Given the description of an element on the screen output the (x, y) to click on. 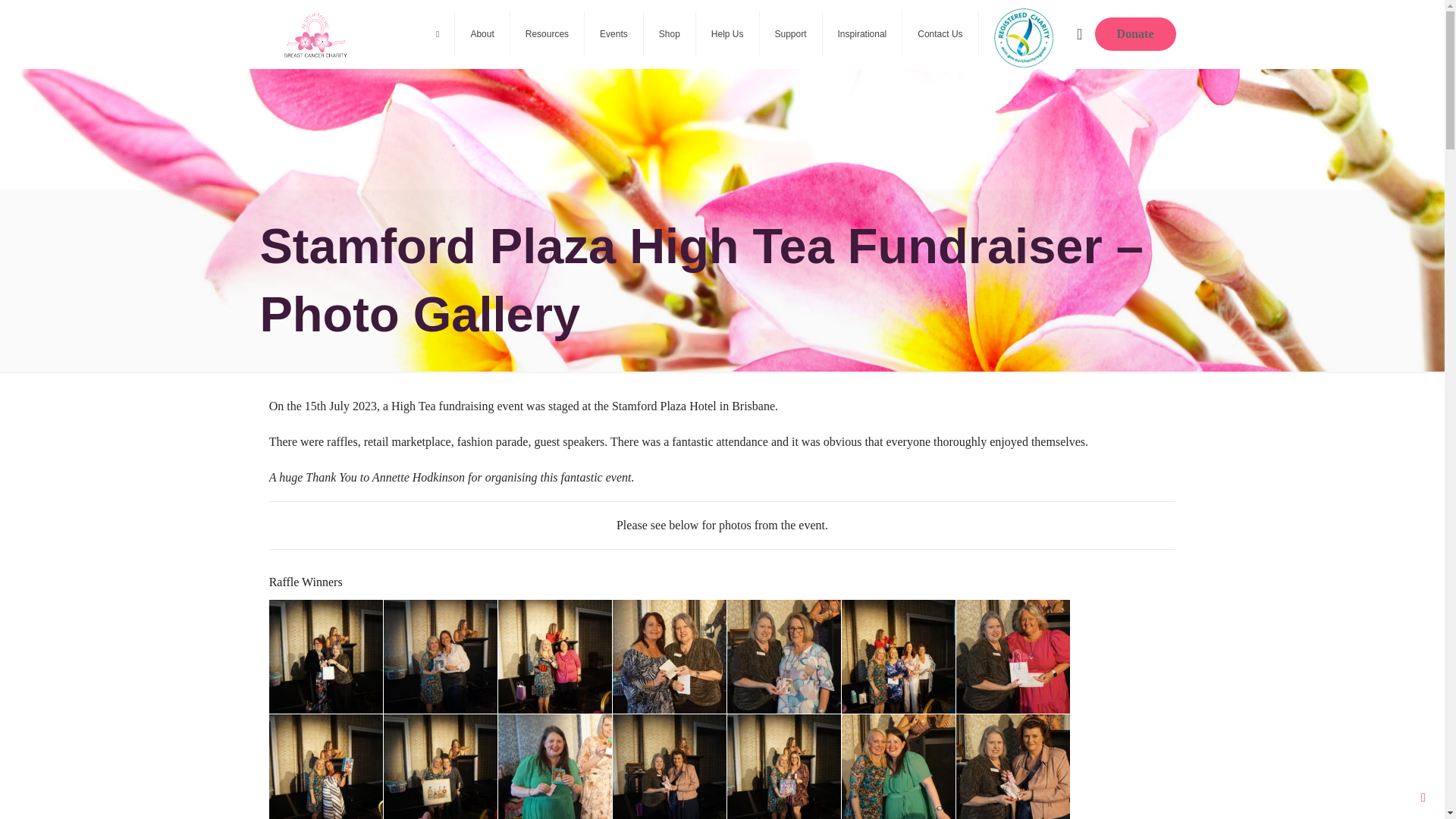
85E81D8C-E0BE-491C-BA96-E4A760B45AE7 (325, 656)
534839A3-02A2-45D5-8BA7-3707BA6D6D27 (898, 656)
3368D603-9982-4355-B8AB-4D1497D7105D (440, 766)
Help Us (727, 33)
Be Uplifted Inc Brisbane Breast Cancer Charity (314, 33)
Resources (548, 33)
Support (791, 33)
200549CB-5DCE-4F8E-9D94-8561613ABFA2 (669, 656)
1908FA00-D8E8-4349-9E27-DDCEF2A6CCA4 (1013, 656)
3689BEBC-FAF6-4B48-B7A1-9A9CA154D372 (554, 656)
2439BB0D-CCEC-4A6B-BCC4-0F96347EC3D5 (783, 656)
9302C3E7-24D8-4DF0-88B9-5B9009C1C1A3 (325, 766)
6258D7BB-E391-49EB-ACBA-A7A68A703E98 (554, 766)
74B8DC33-6692-417D-B0C0-3DAEF59B47C6 (440, 656)
